Given the description of an element on the screen output the (x, y) to click on. 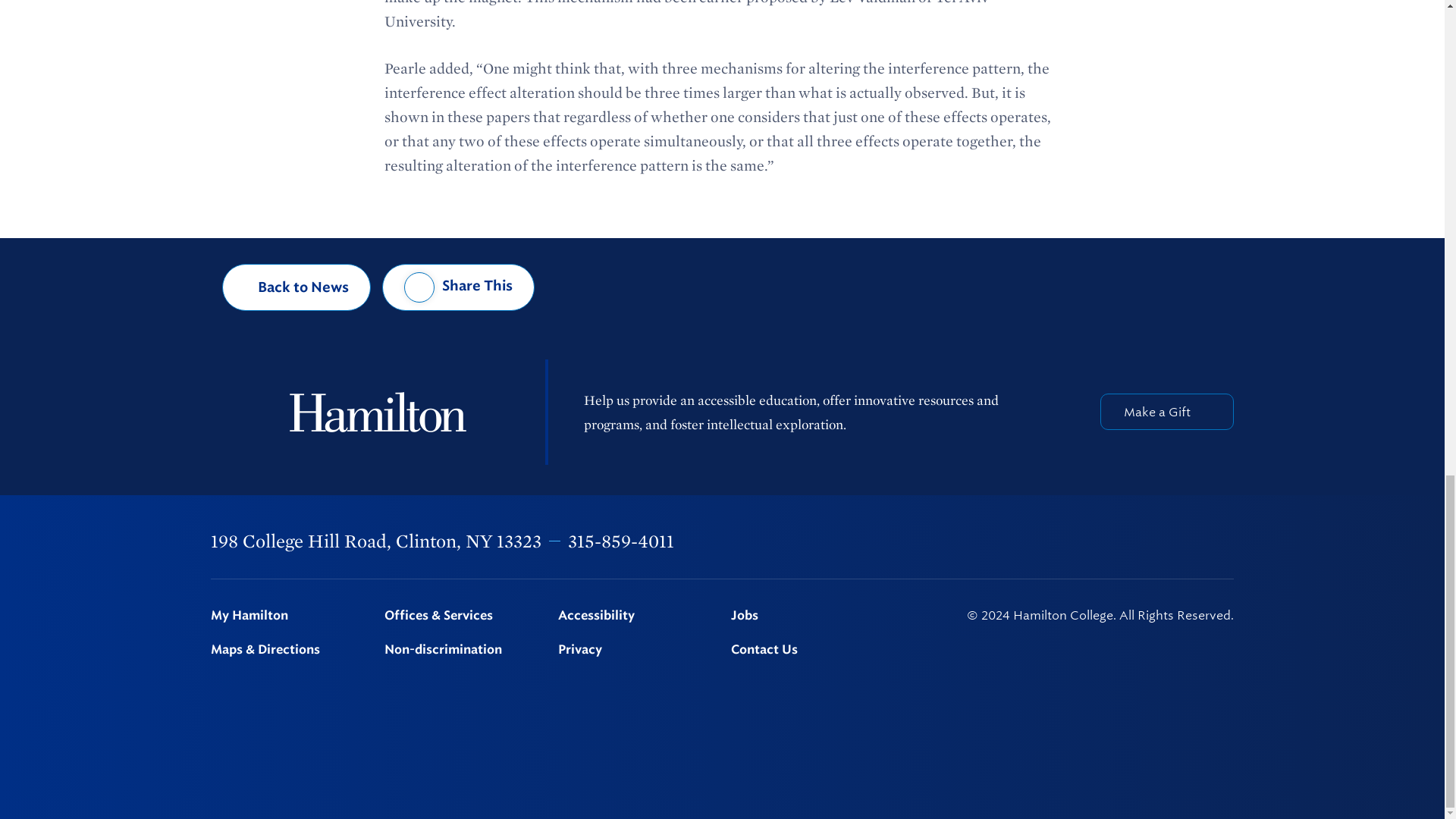
My Hamilton (288, 615)
Share This (457, 287)
Linkedin (1149, 540)
Instagram (1109, 540)
Make a Gift (1166, 411)
198 College Hill Road, Clinton, NY 13323 (375, 540)
Youtube (1188, 540)
Back to News (296, 287)
TikTok (1226, 540)
Twitter (1069, 540)
